Given the description of an element on the screen output the (x, y) to click on. 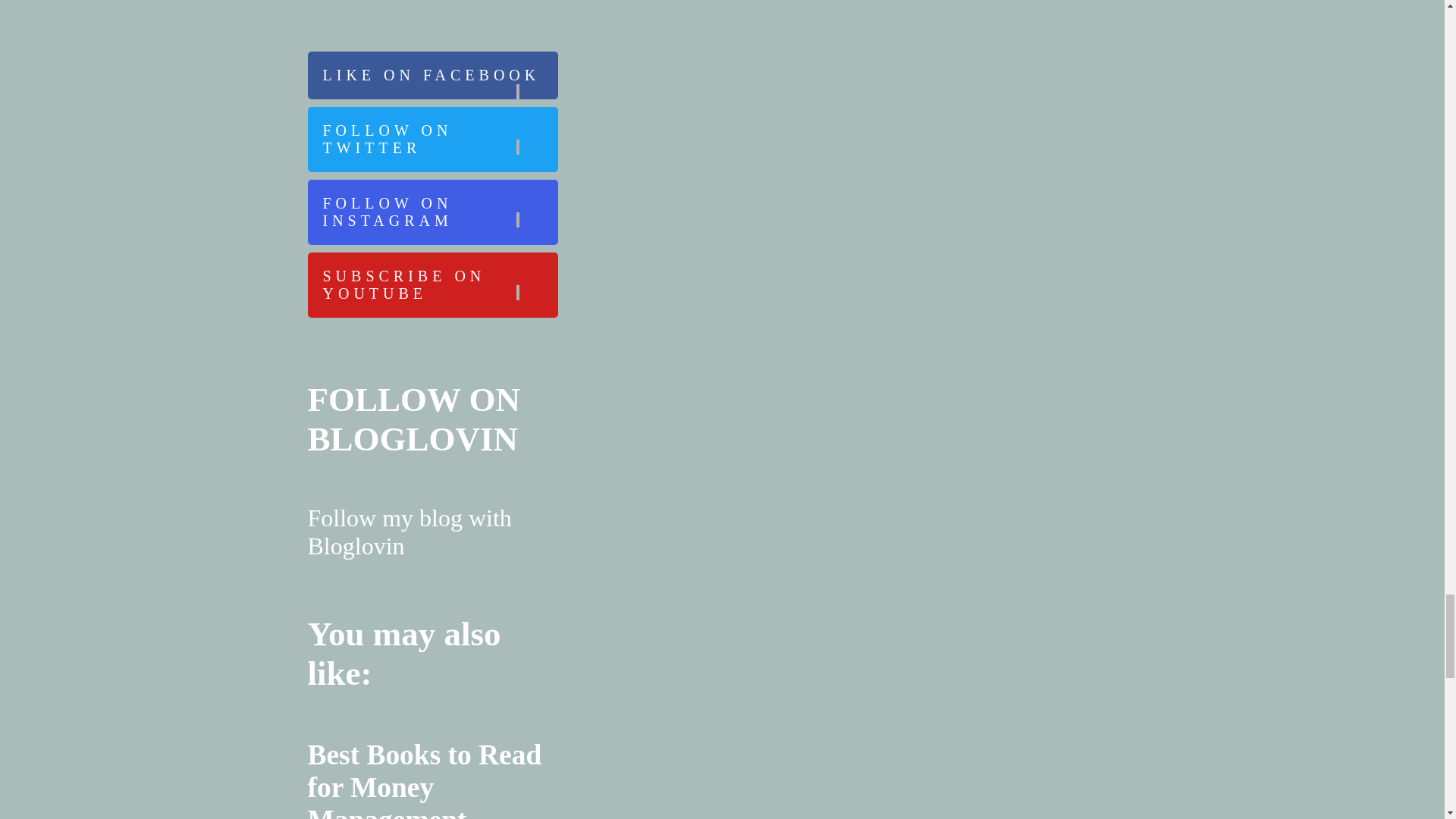
Follow my blog with Bloglovin (409, 531)
SUBSCRIBE ON YOUTUBE (432, 284)
FOLLOW ON INSTAGRAM (432, 211)
LIKE ON FACEBOOK (432, 75)
Best Books to Read for Money Management (424, 779)
FOLLOW ON TWITTER (432, 139)
